Given the description of an element on the screen output the (x, y) to click on. 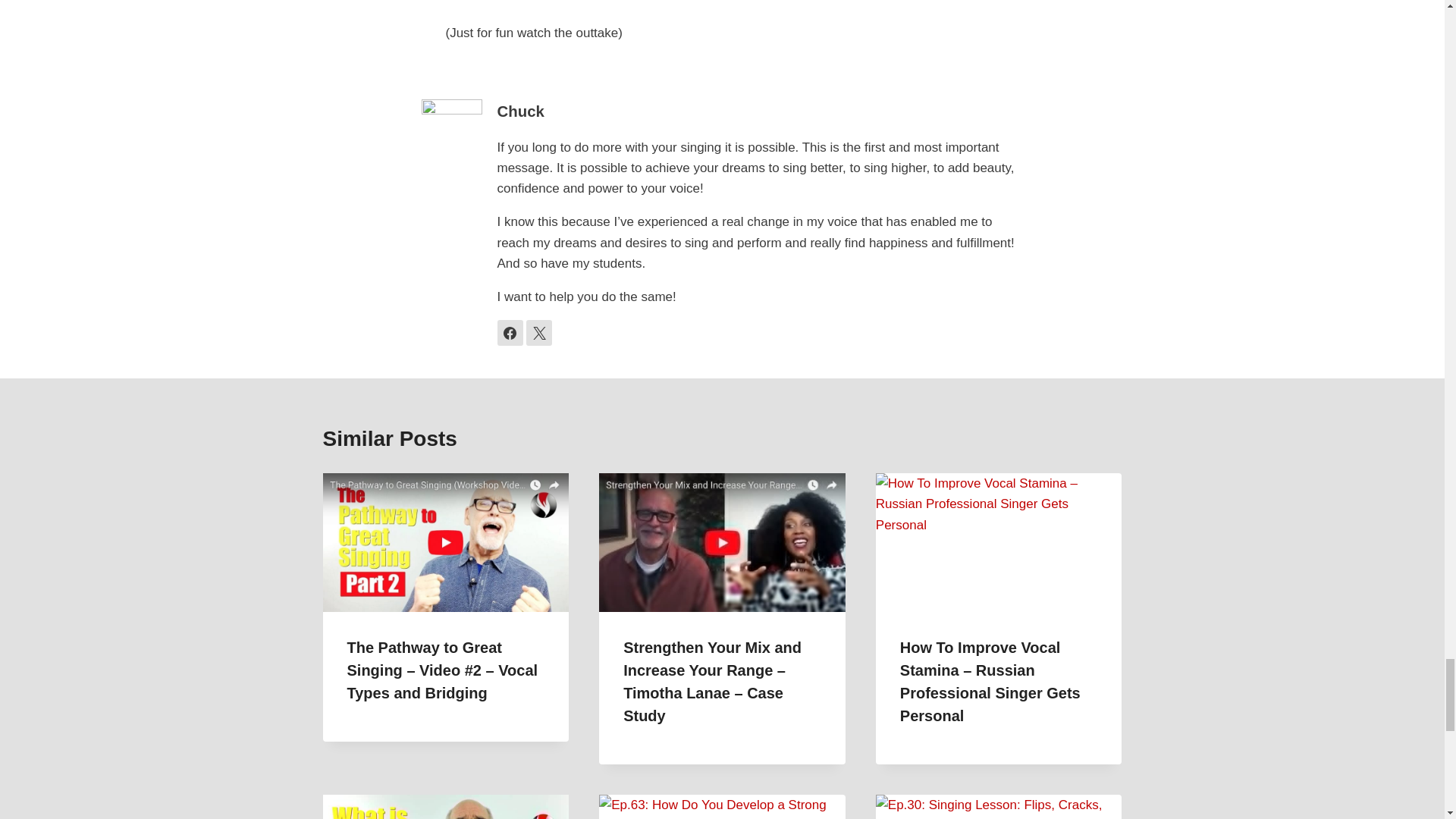
Posts by Chuck (520, 111)
Chuck (520, 111)
Follow Chuck on Facebook (509, 332)
Follow Chuck on X formerly Twitter (538, 332)
